Given the description of an element on the screen output the (x, y) to click on. 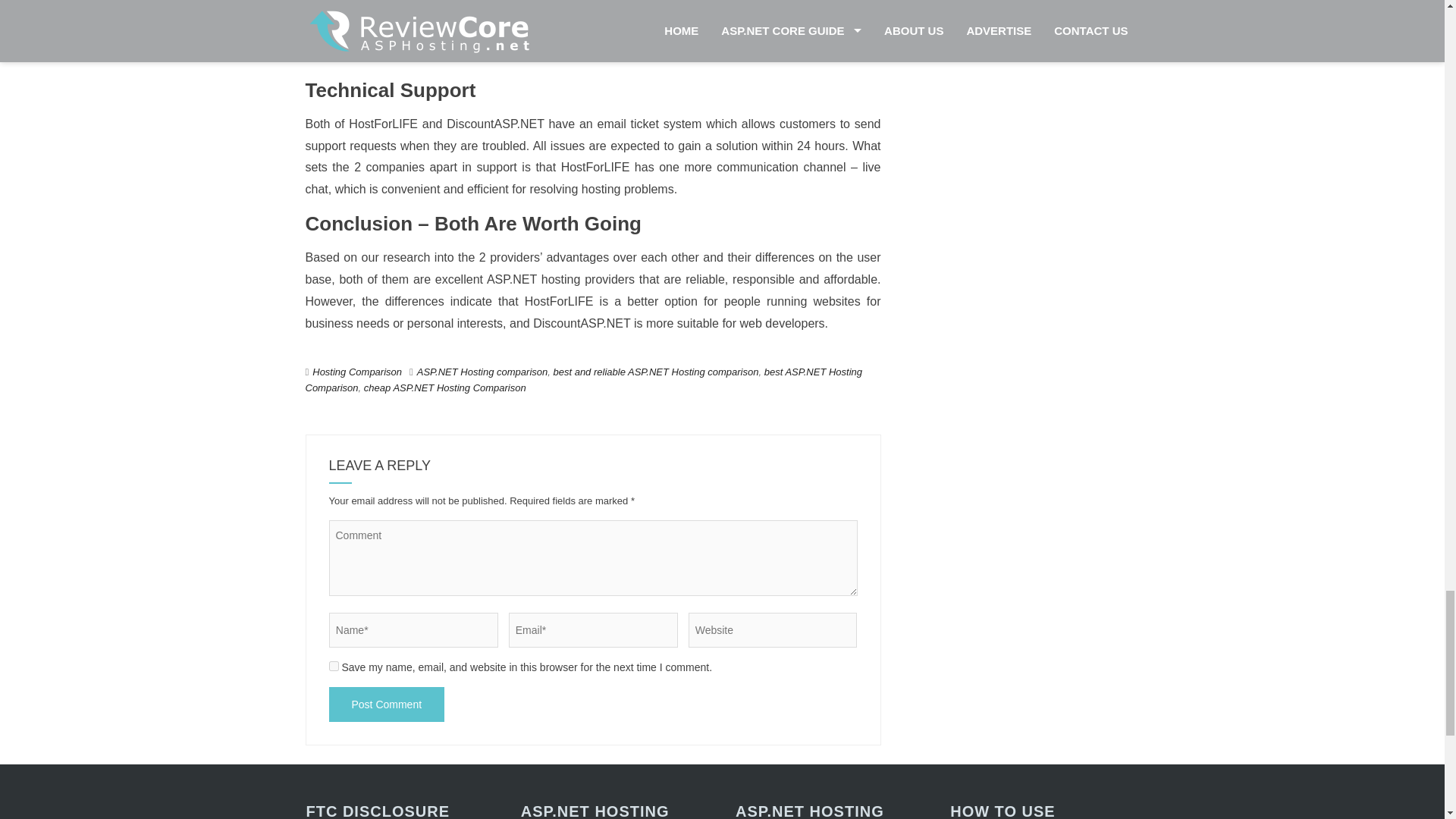
yes (334, 665)
best ASP.NET Hosting Comparison (582, 379)
Post Comment (387, 704)
ASP.NET Hosting comparison (481, 371)
Post Comment (387, 704)
cheap ASP.NET Hosting Comparison (444, 387)
Hosting Comparison (357, 371)
best and reliable ASP.NET Hosting comparison (655, 371)
